Given the description of an element on the screen output the (x, y) to click on. 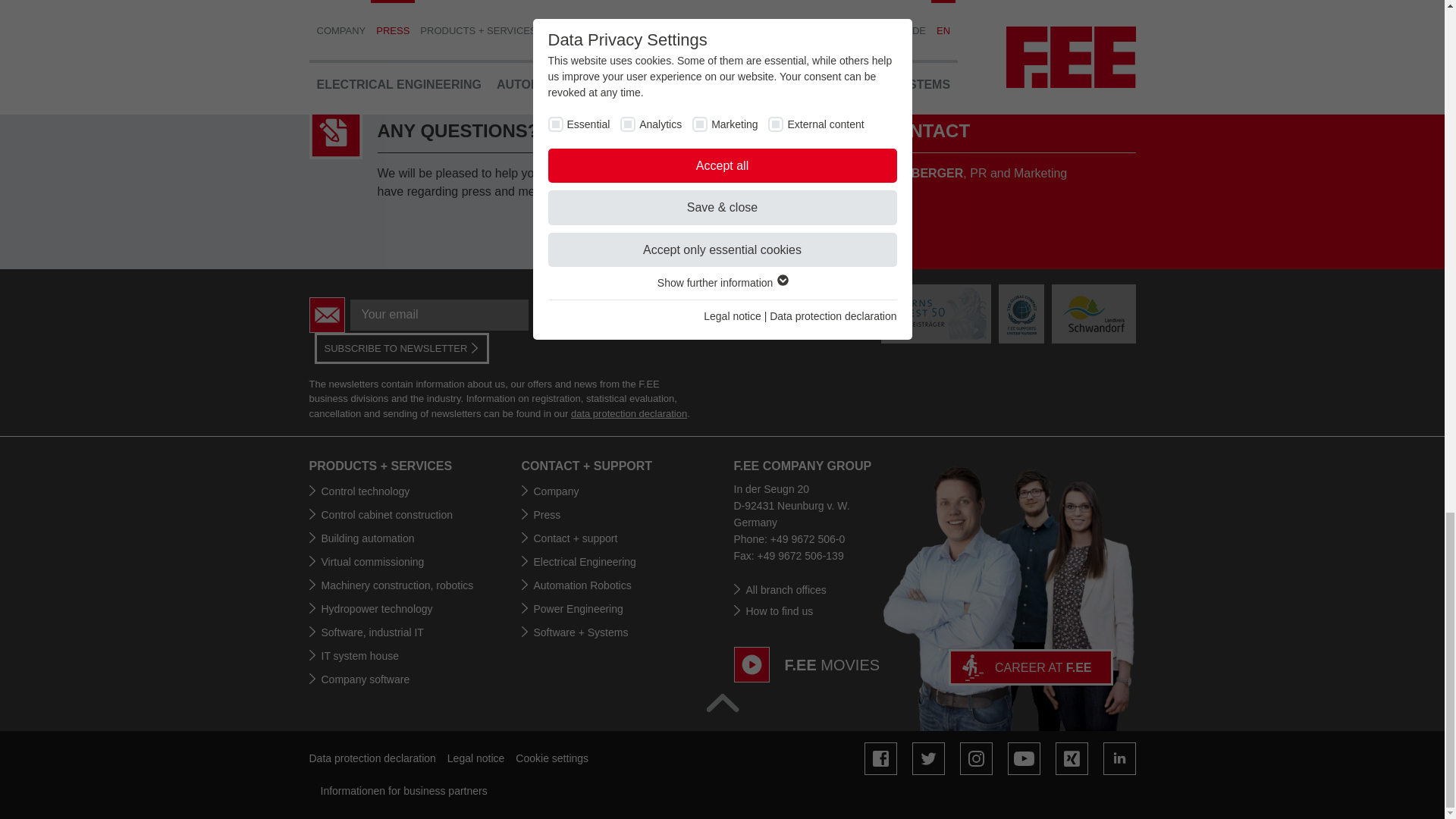
Youtube (1023, 758)
go to top (722, 702)
Xing (1071, 758)
Facebook (880, 758)
go to top (722, 702)
Instagram (975, 758)
Linkedin (1118, 758)
Twitter (927, 758)
Landkreis Schwandorf (1093, 313)
